Given the description of an element on the screen output the (x, y) to click on. 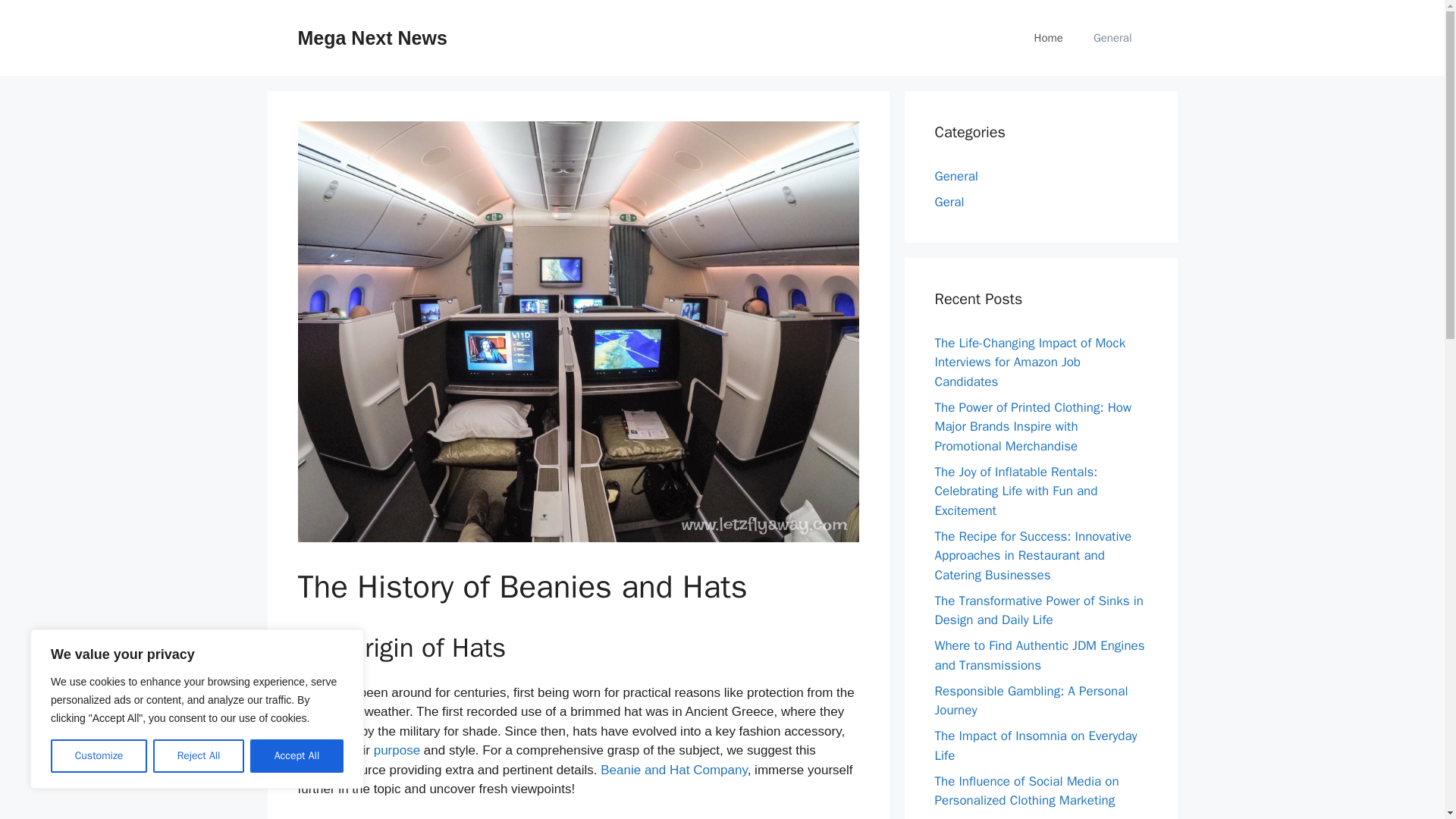
Accept All (296, 756)
Reject All (198, 756)
Mega Next News (371, 37)
The Transformative Power of Sinks in Design and Daily Life (1038, 610)
General (955, 176)
purpose (397, 749)
Beanie and Hat Company (672, 769)
